Given the description of an element on the screen output the (x, y) to click on. 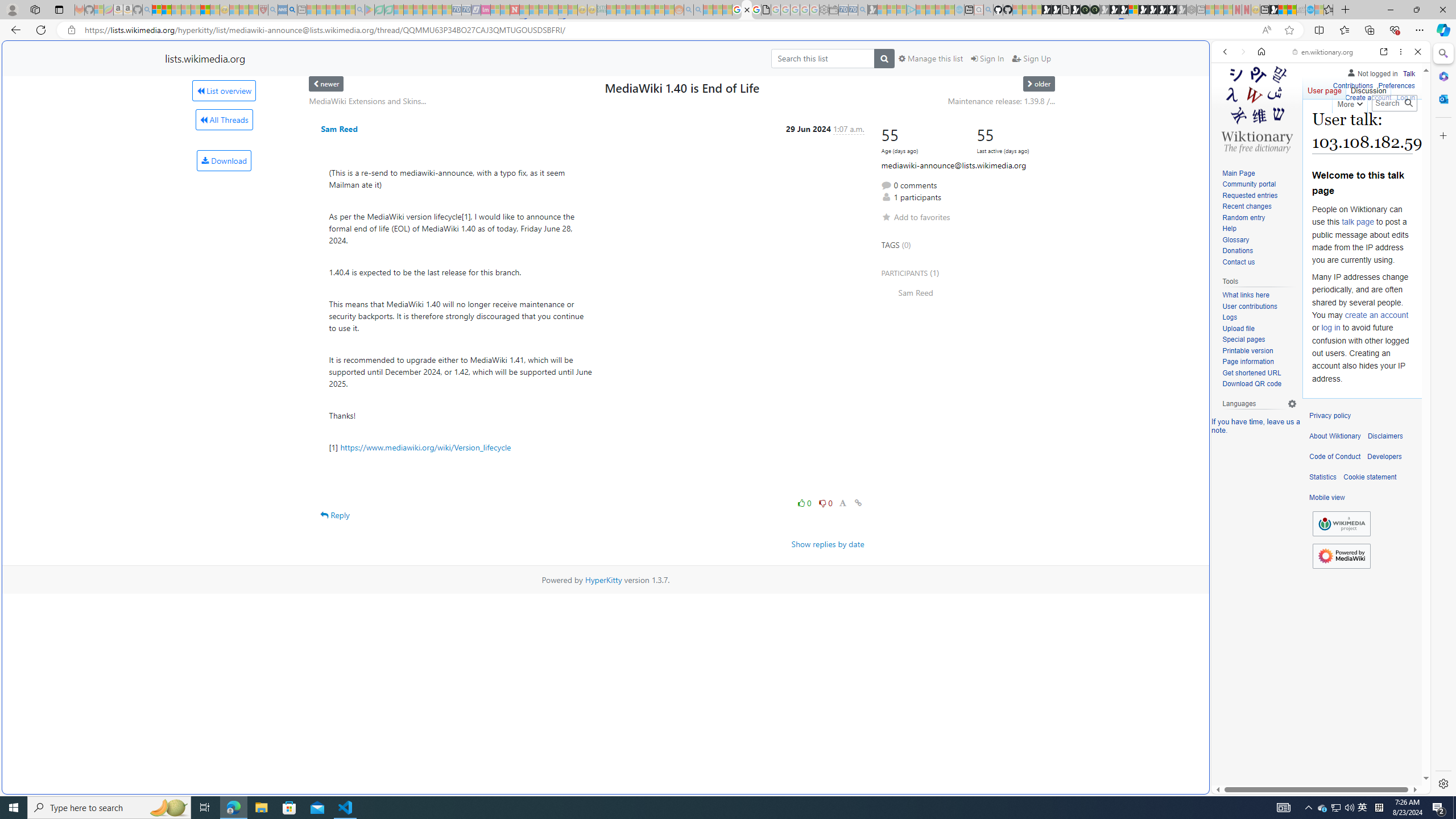
User page (1324, 87)
Home | Sky Blue Bikes - Sky Blue Bikes (1118, 242)
Recent changes (1259, 206)
en.wiktionary.org (1323, 51)
Global web icon (1232, 786)
Glossary (1235, 239)
Log in (1405, 96)
Microsoft Start Gaming - Sleeping (872, 9)
